Given the description of an element on the screen output the (x, y) to click on. 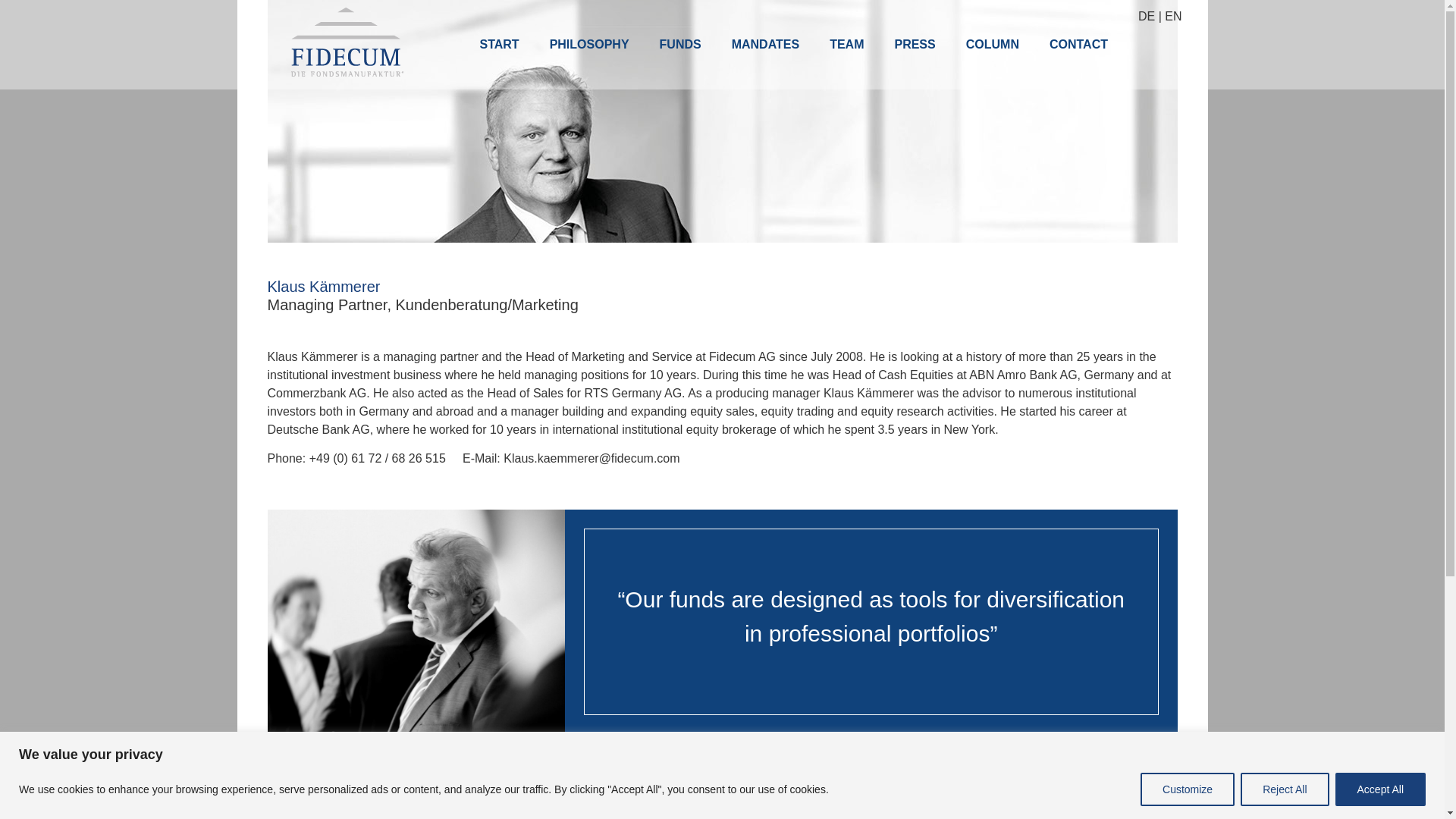
CONTACT (1077, 44)
DE (1146, 15)
Reject All (1283, 788)
Accept All (1380, 788)
START (499, 44)
PRESS (914, 44)
COLUMN (991, 44)
Customize (1187, 788)
FUNDS (680, 44)
PHILOSOPHY (589, 44)
